Given the description of an element on the screen output the (x, y) to click on. 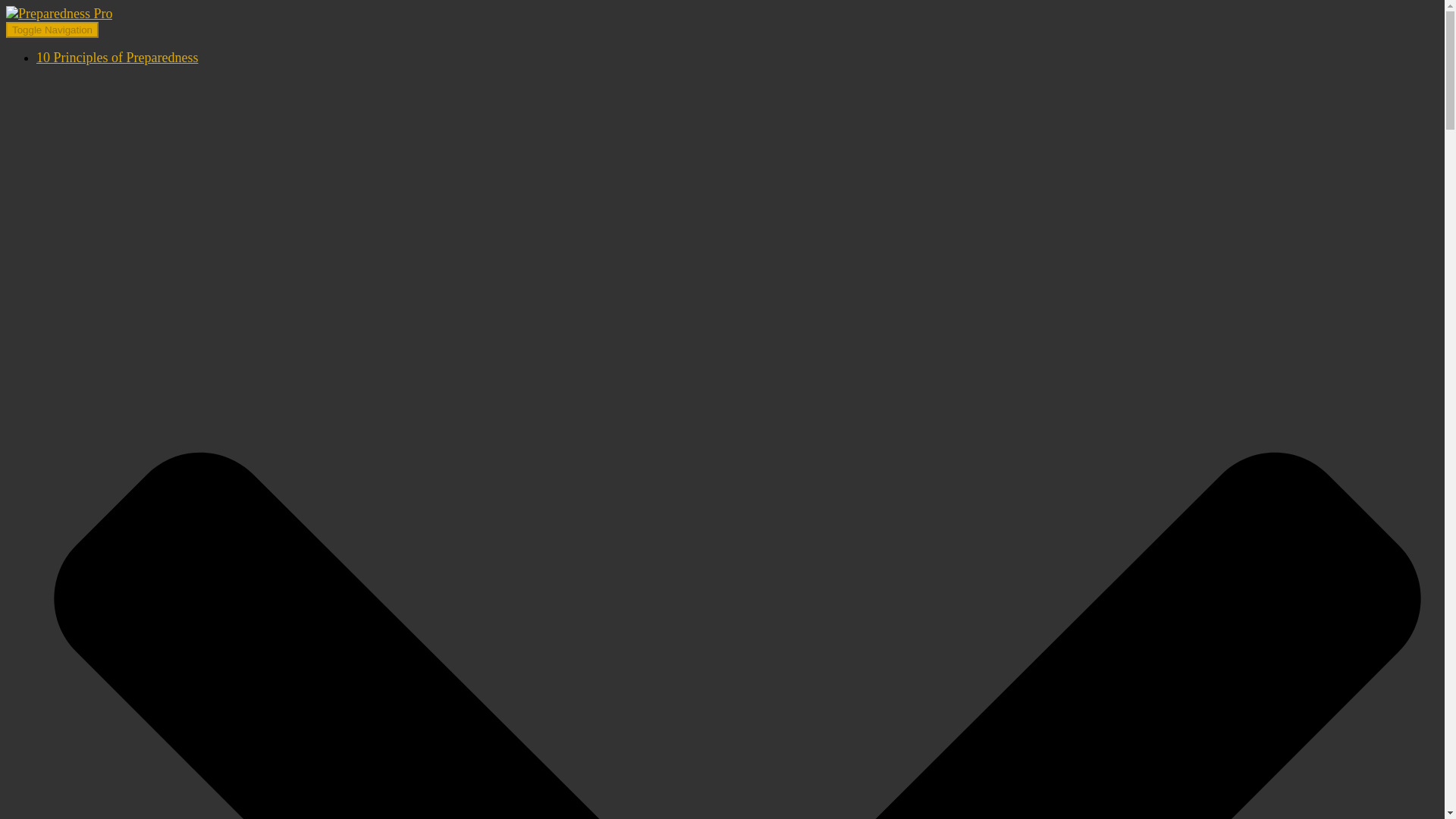
Toggle Navigation (52, 29)
Preparedness Pro (58, 13)
